Given the description of an element on the screen output the (x, y) to click on. 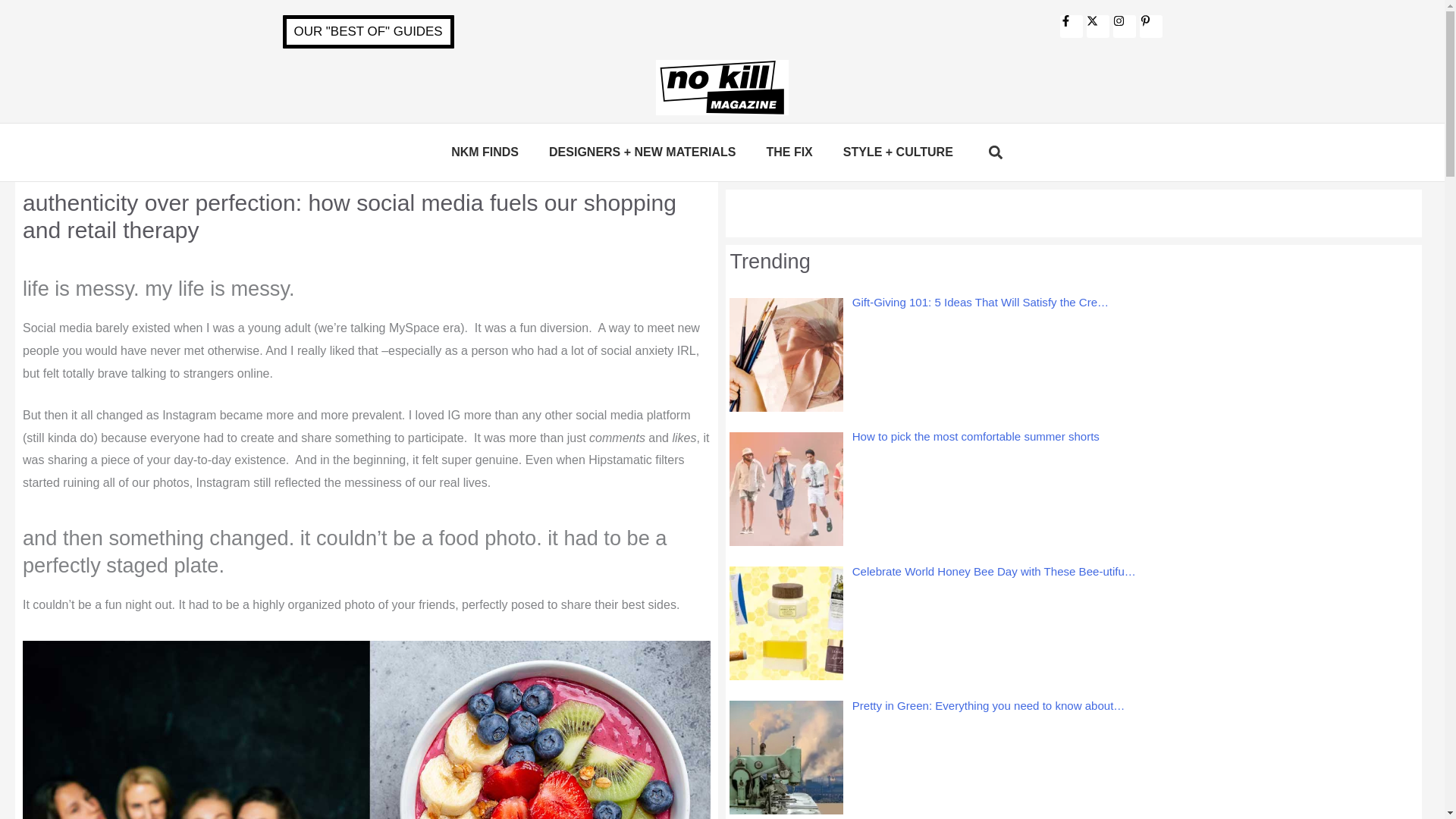
Pinterest-p (1149, 26)
THE FIX (789, 152)
X-twitter (1097, 26)
How to pick the most comfortable summer shorts (975, 436)
Facebook-f (1071, 26)
Instagram (1124, 26)
NKM FINDS (484, 152)
OUR "BEST OF" GUIDES (367, 31)
